Given the description of an element on the screen output the (x, y) to click on. 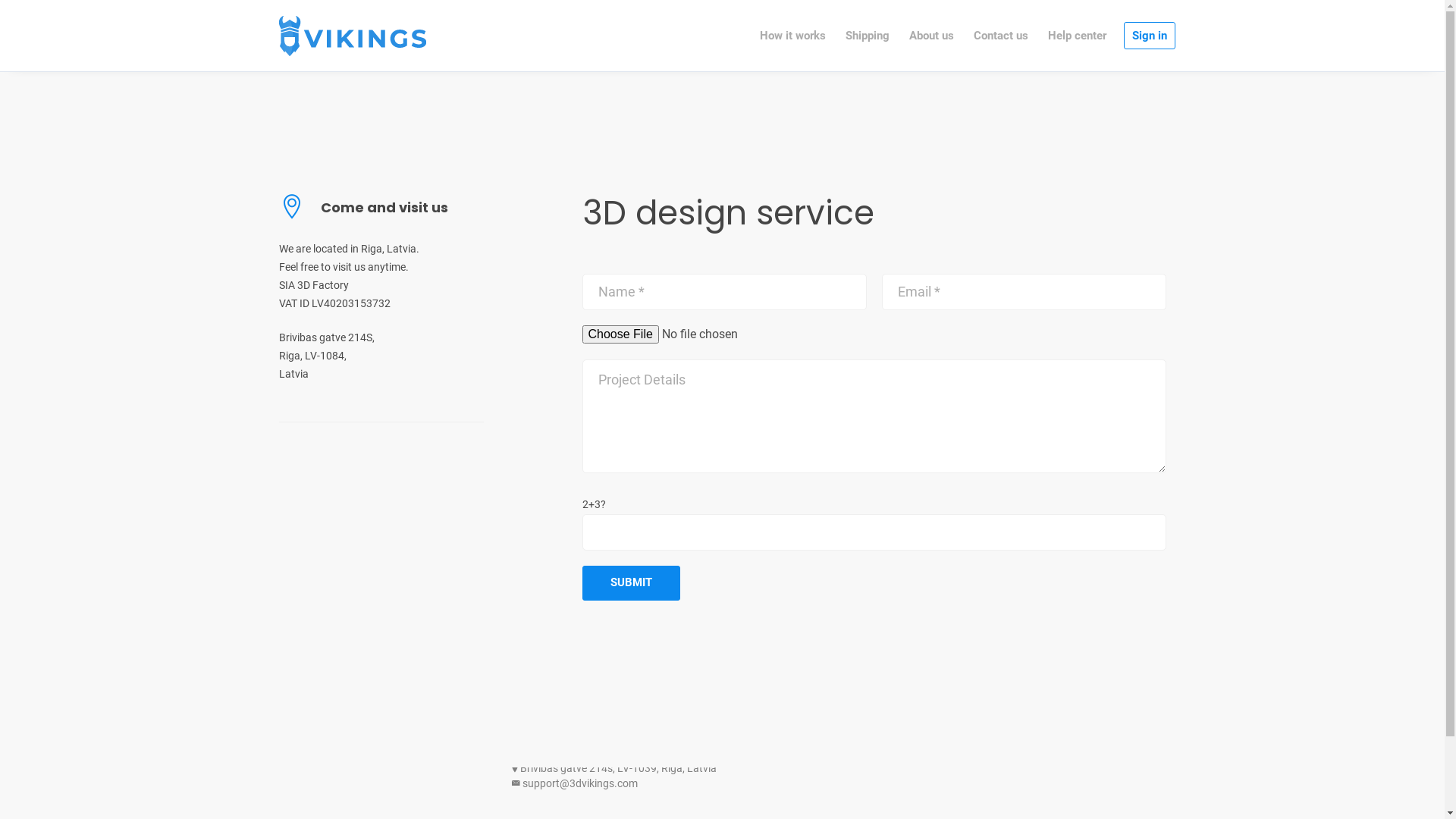
Shipping Element type: text (868, 35)
Submit Element type: text (631, 582)
Contact us Element type: text (1001, 35)
About us Element type: text (932, 35)
Help center Element type: text (1077, 35)
Terms of Service Element type: text (1116, 752)
Privacy Policy Element type: text (1037, 752)
support@3dvikings.com Element type: text (579, 783)
Sign in Element type: text (1149, 35)
How it works Element type: text (792, 35)
